Given the description of an element on the screen output the (x, y) to click on. 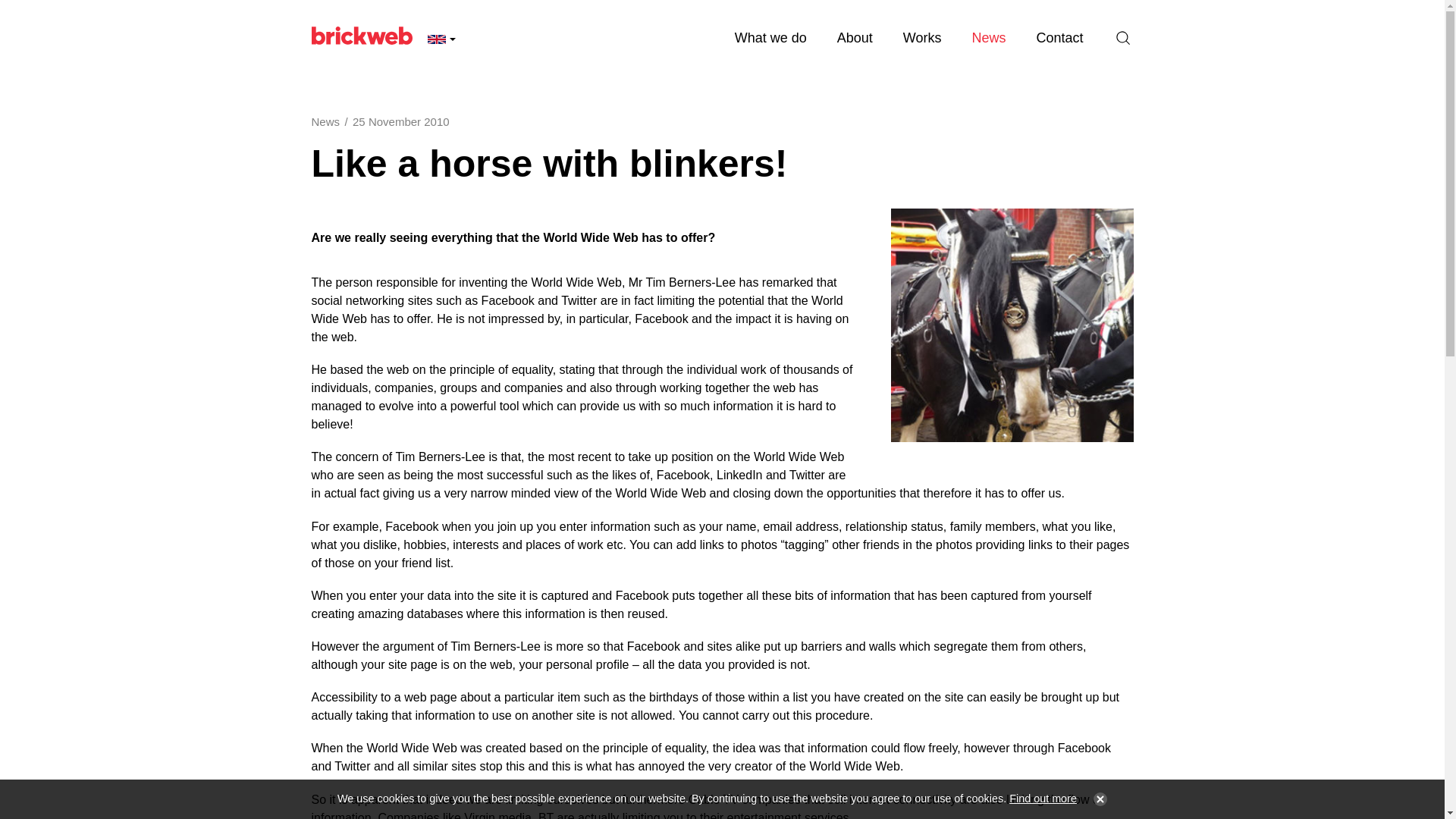
News (988, 37)
news-horse blinkers (1010, 325)
News (325, 121)
Contact (1058, 37)
What we do (770, 37)
About (855, 37)
Latest News. Check out the latest news Brick technology (988, 37)
Works (922, 37)
25 November 2010 (400, 121)
